Given the description of an element on the screen output the (x, y) to click on. 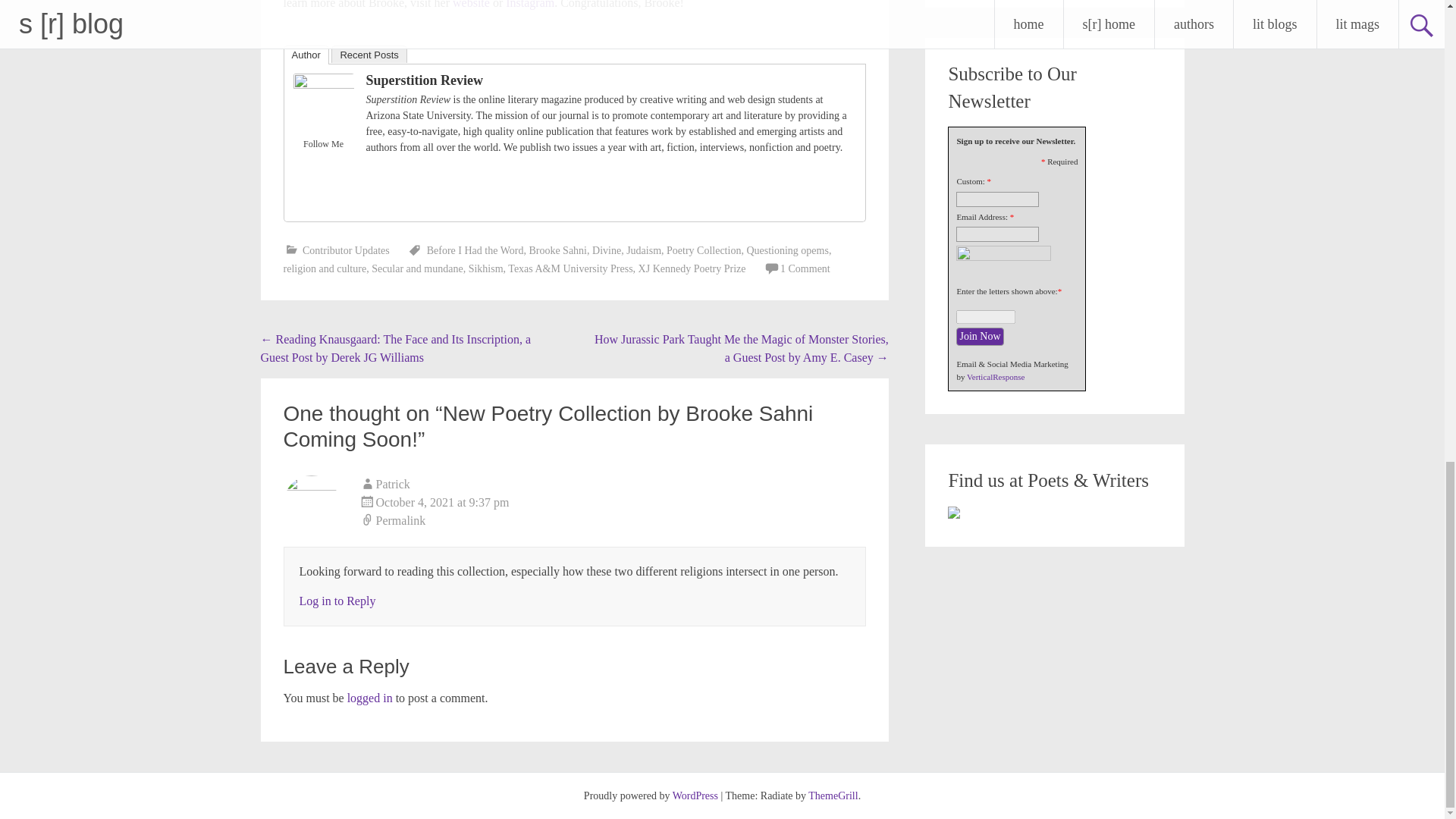
Divine (606, 250)
Contributor Updates (346, 250)
religion and culture (324, 268)
YouTube (322, 202)
Instagram (303, 182)
Instagram (529, 4)
Before I Had the Word (475, 250)
Join Now (979, 335)
Secular and mundane (417, 268)
Superstition Review (424, 79)
Questioning opems (786, 250)
Author (306, 54)
Judaism (643, 250)
Recent Posts (368, 53)
Poetry Collection (703, 250)
